Given the description of an element on the screen output the (x, y) to click on. 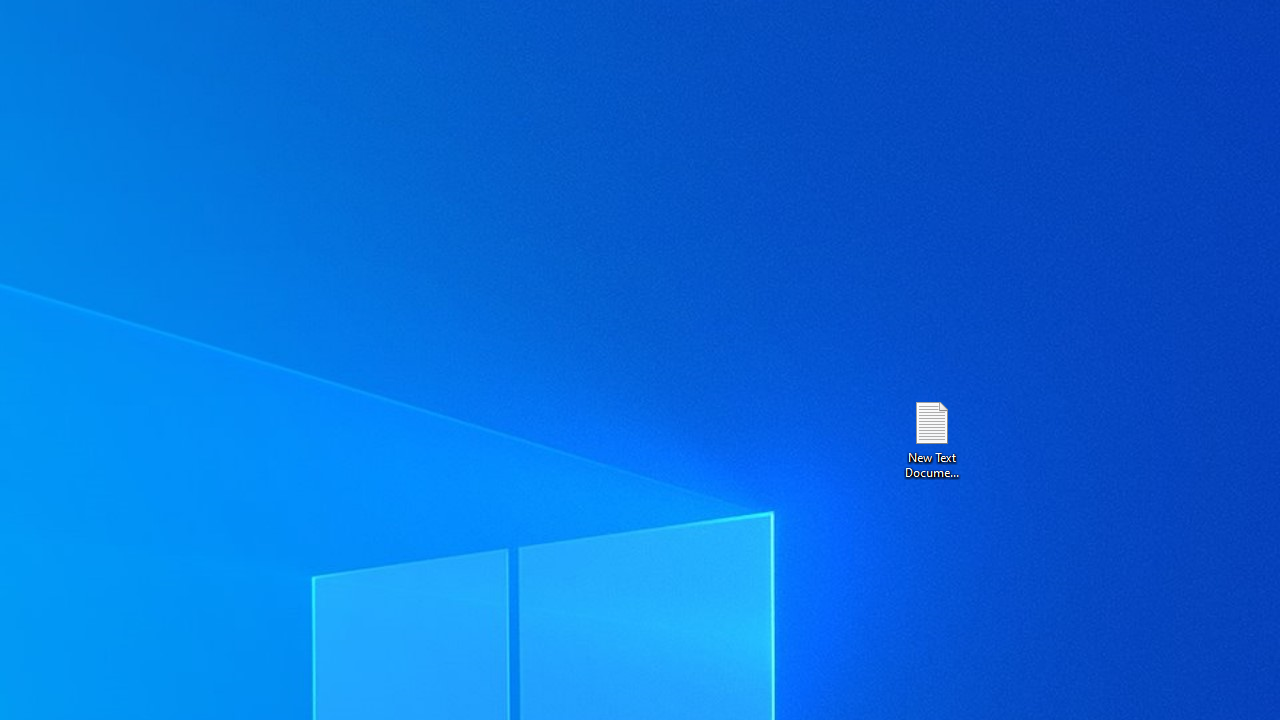
New Text Document (2) (931, 438)
